Given the description of an element on the screen output the (x, y) to click on. 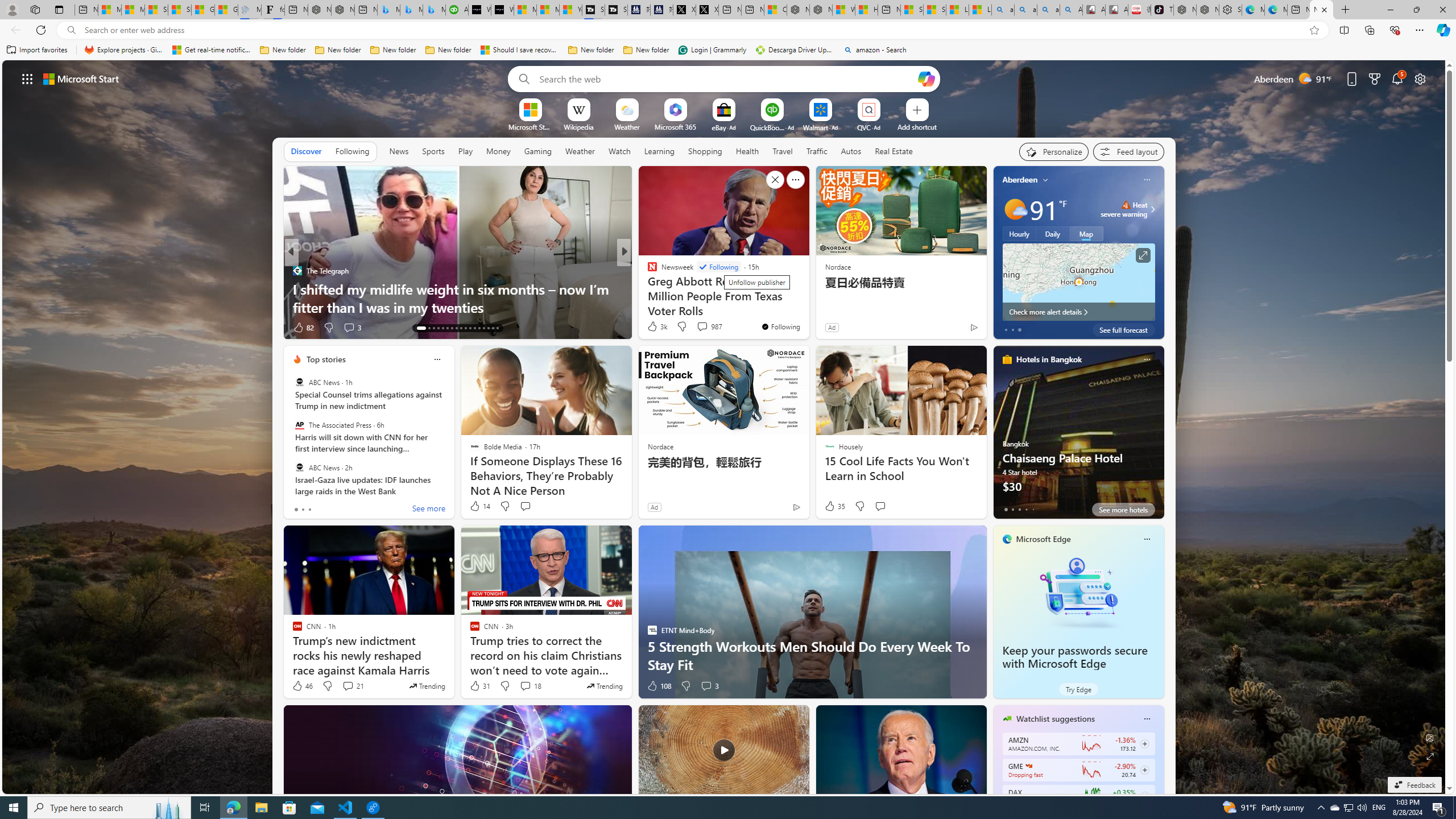
Import favorites (36, 49)
The Weather Channel (647, 270)
The Independent (647, 270)
Enter your search term (726, 78)
AutomationID: tab-29 (497, 328)
Microsoft Edge (1043, 538)
Don't Use an Ordinary Backpack (807, 307)
Debunking 14 Common Myths About Strength Training (807, 298)
